Given the description of an element on the screen output the (x, y) to click on. 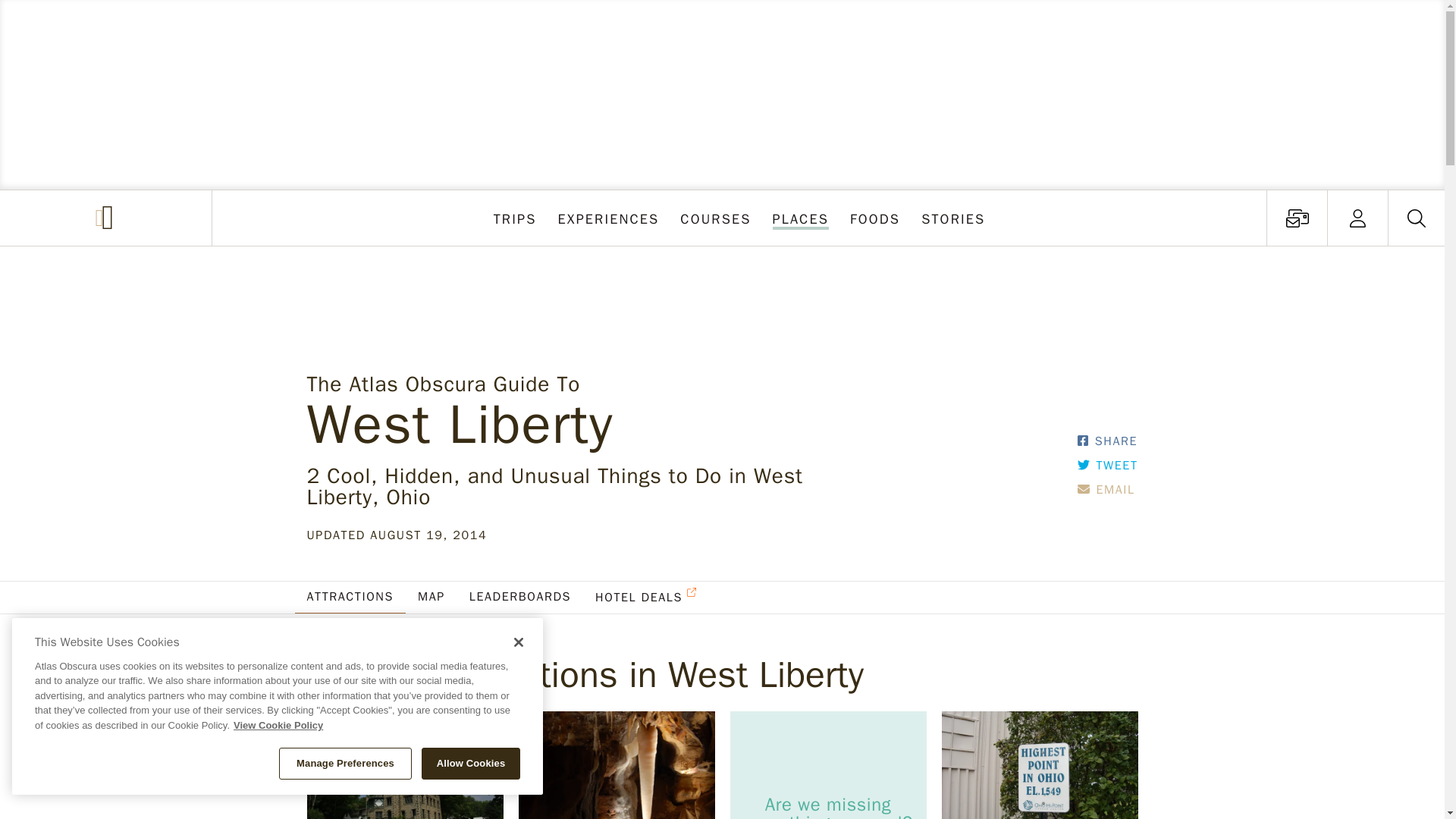
STORIES (953, 217)
EXPERIENCES (1356, 217)
PLACES (608, 217)
FOODS (799, 217)
View all newsletters (874, 217)
TRIPS (1297, 217)
COURSES (515, 217)
Sign In (1296, 217)
